Given the description of an element on the screen output the (x, y) to click on. 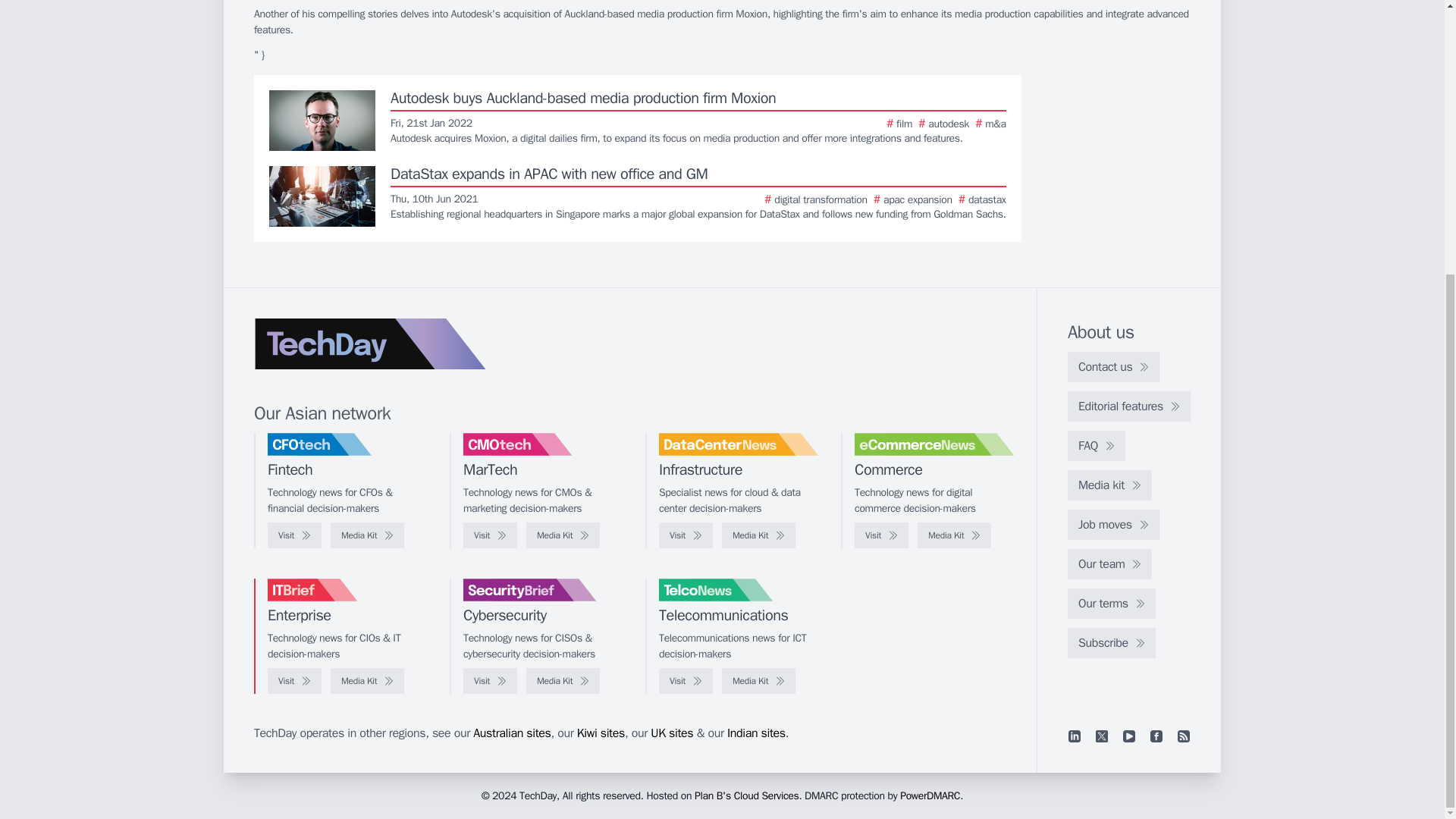
Visit (489, 534)
FAQ (1096, 445)
Editorial features (1129, 406)
Indian sites (756, 733)
Media Kit (367, 534)
UK sites (671, 733)
Visit (686, 534)
Australian sites (511, 733)
Media Kit (758, 534)
Media kit (1109, 485)
Visit (294, 680)
Visit (881, 534)
Media Kit (758, 680)
Visit (294, 534)
Media Kit (954, 534)
